Given the description of an element on the screen output the (x, y) to click on. 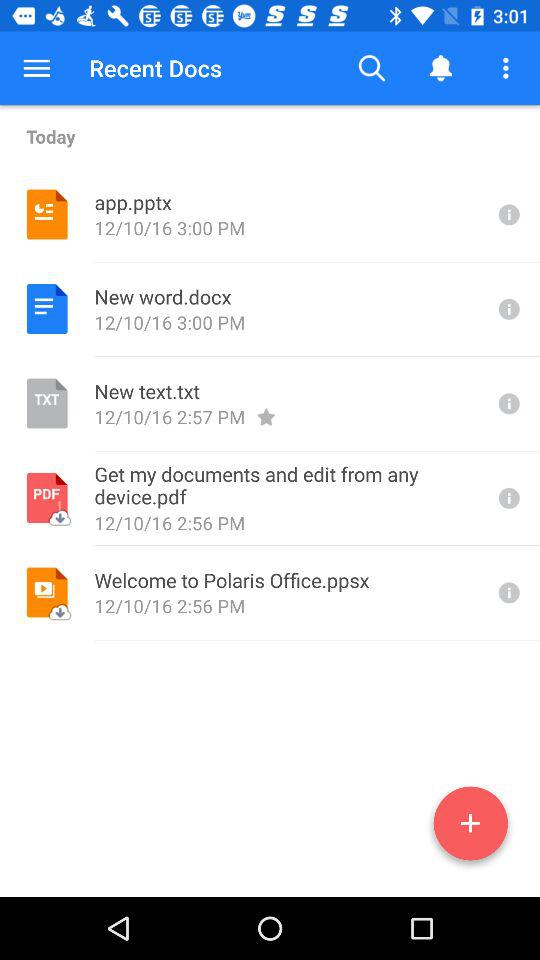
tap the item next to the recent docs (371, 67)
